Given the description of an element on the screen output the (x, y) to click on. 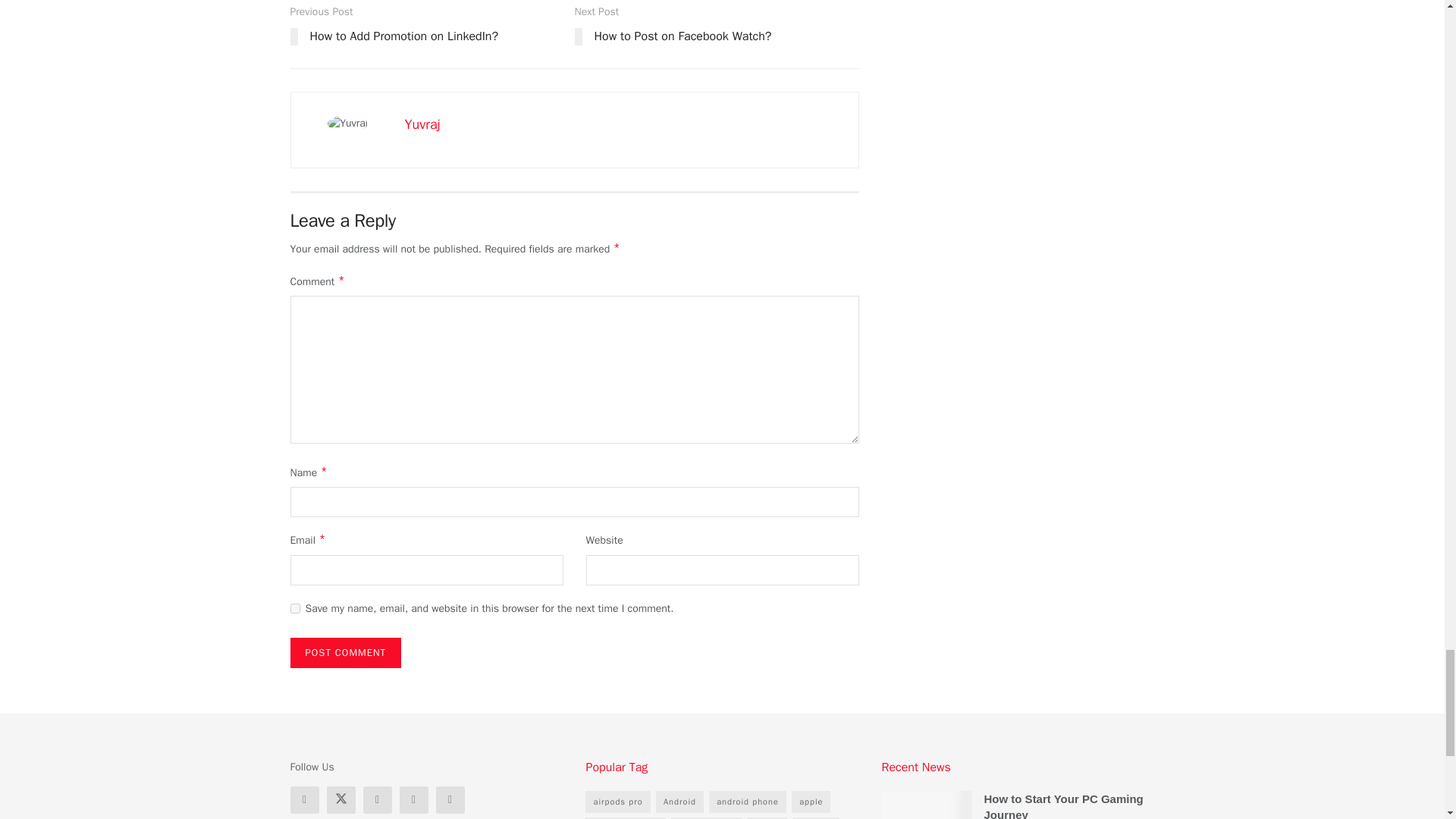
Post Comment (345, 653)
yes (294, 608)
